Given the description of an element on the screen output the (x, y) to click on. 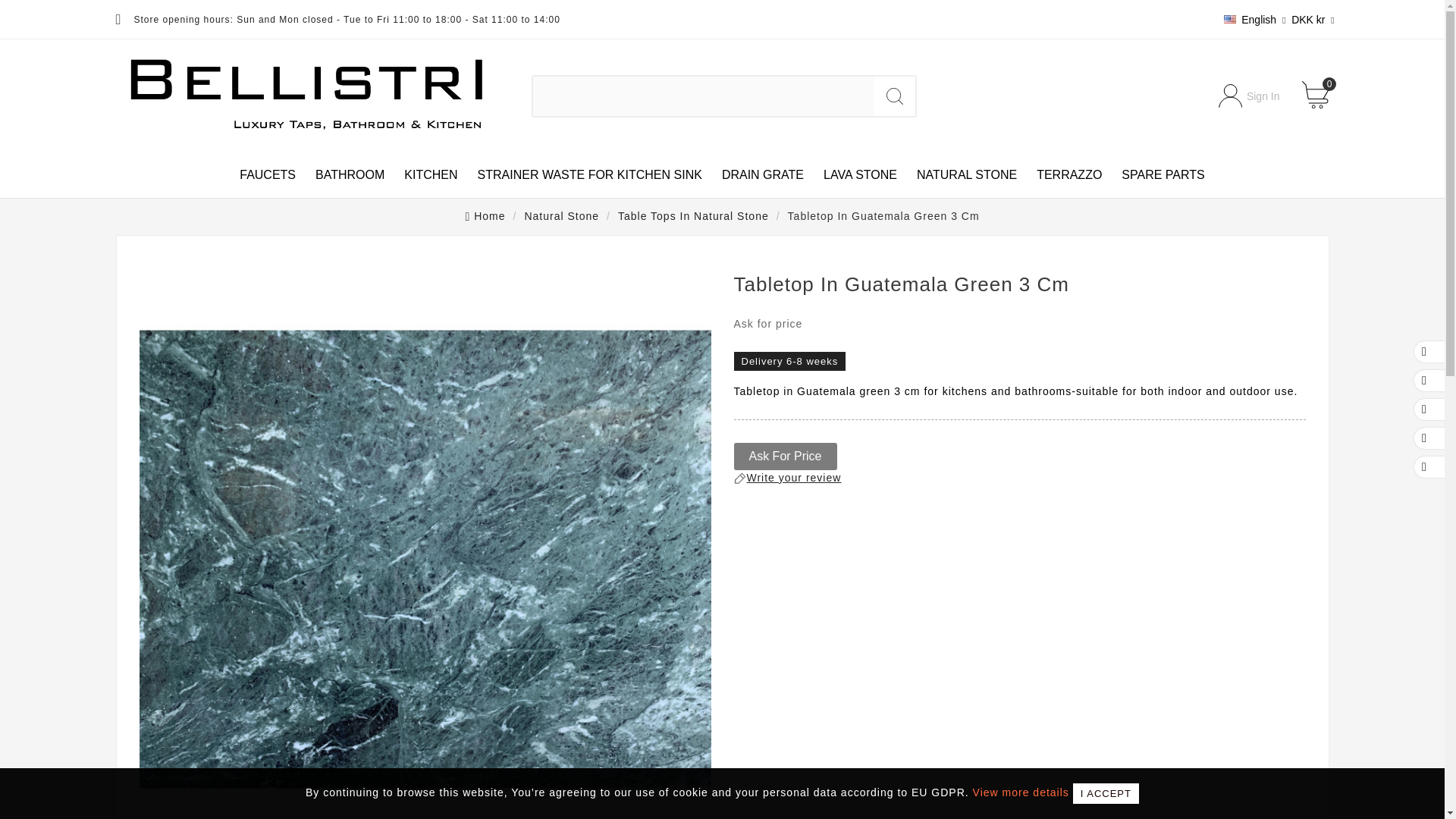
0 (1320, 95)
Tabletop In Guatemala Green 3 Cm (883, 215)
Home (484, 215)
FAUCETS (267, 174)
KITCHEN (430, 174)
LAVA STONE (860, 174)
STRAINER WASTE FOR KITCHEN SINK (589, 174)
BATHROOM (349, 174)
Table Tops In Natural Stone (692, 215)
